Given the description of an element on the screen output the (x, y) to click on. 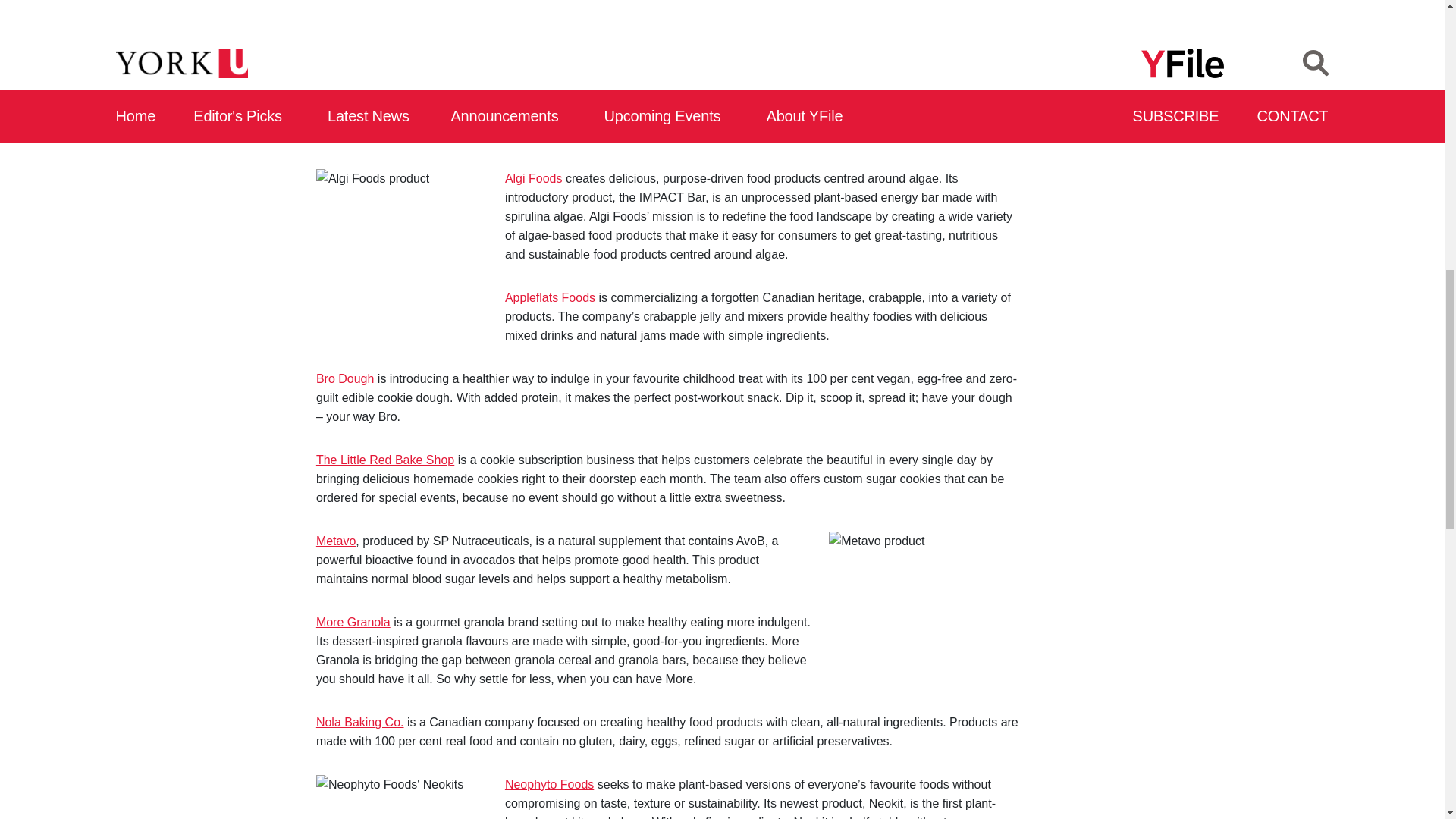
Bro Dough (344, 378)
Food Accelerator program (623, 72)
Algi Foods (533, 178)
The Little Red Bake Shop (384, 459)
Metavo (335, 540)
Appleflats Foods (550, 297)
